Given the description of an element on the screen output the (x, y) to click on. 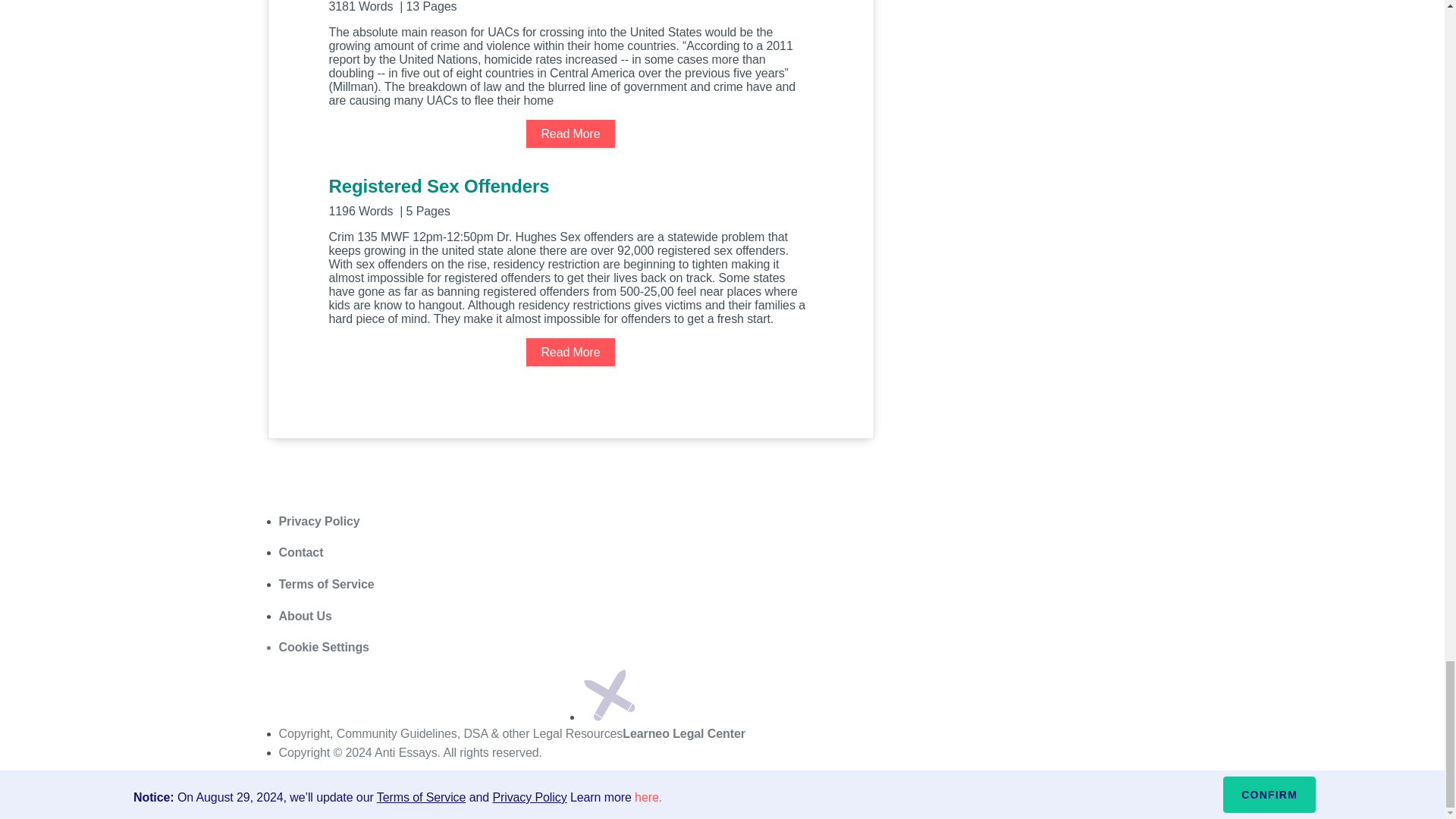
Illegal Immigration Freedom (570, 6)
Read More (569, 352)
Read More (569, 133)
Privacy Policy (319, 521)
Registered Sex Offenders (570, 195)
Contact (301, 552)
